Given the description of an element on the screen output the (x, y) to click on. 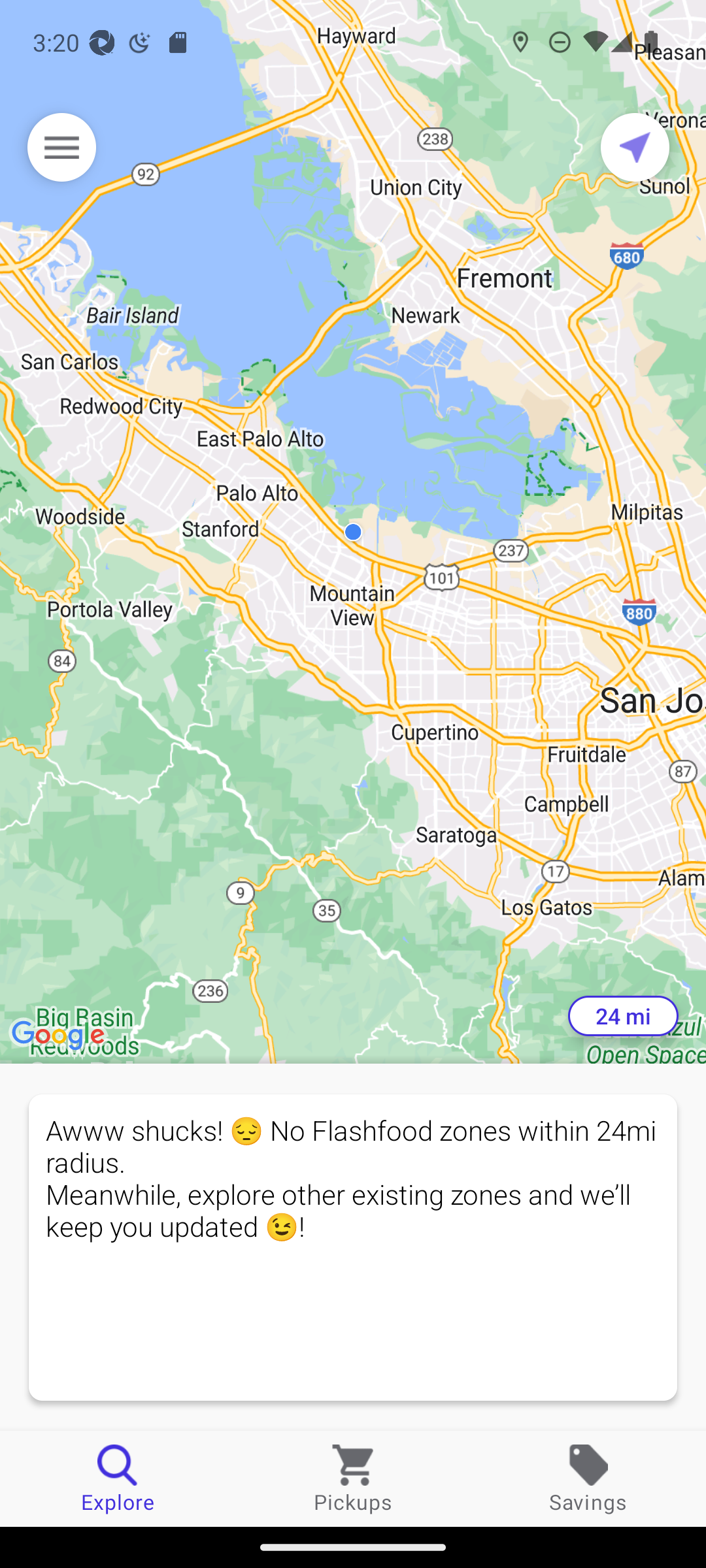
Menu (61, 146)
Current location (634, 146)
24 mi (623, 1015)
Pickups (352, 1478)
Savings (588, 1478)
